Given the description of an element on the screen output the (x, y) to click on. 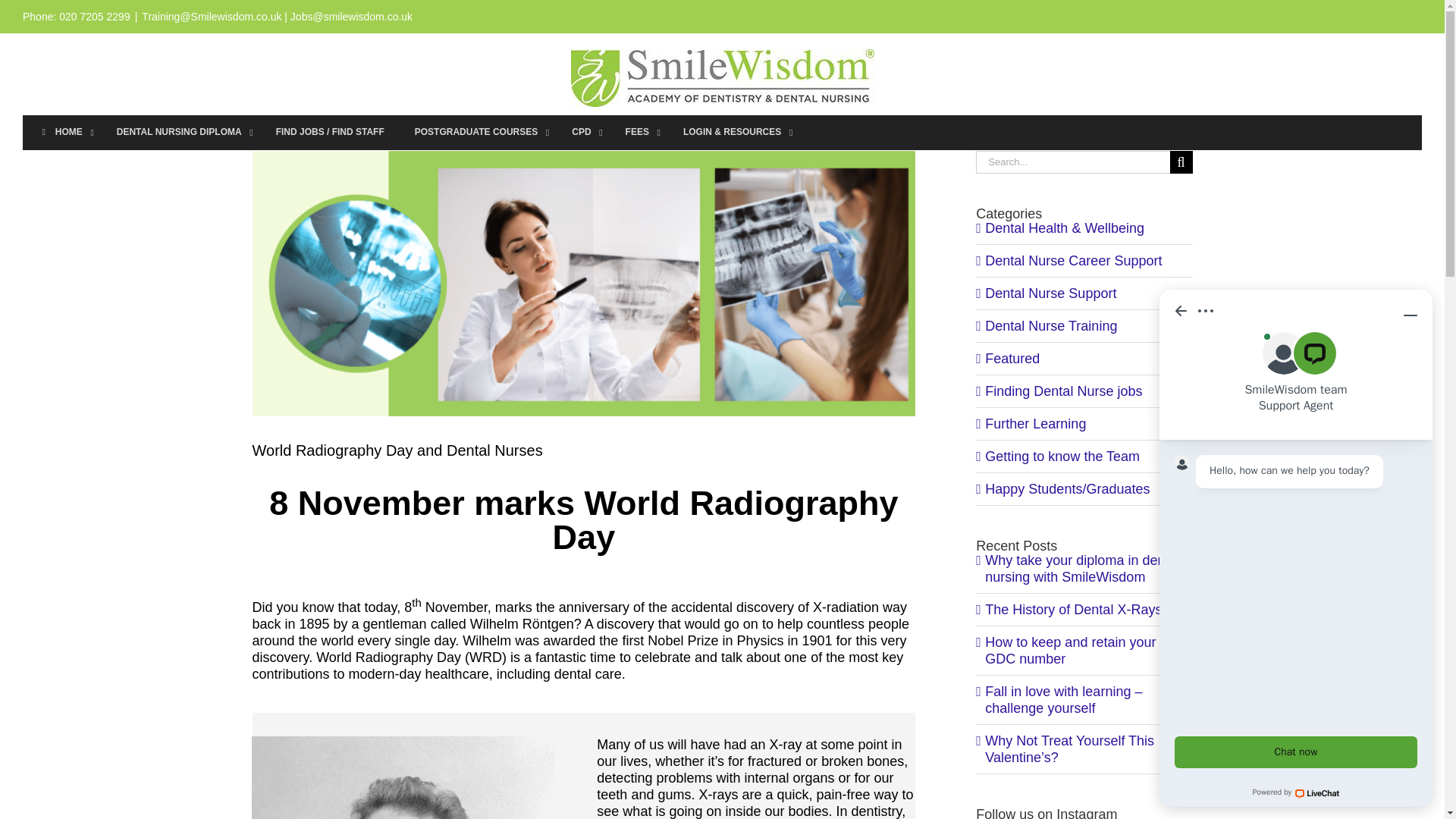
DENTAL NURSING DIPLOMA (180, 132)
1 (402, 777)
HOME (62, 132)
020 7205 2299 (94, 16)
